Given the description of an element on the screen output the (x, y) to click on. 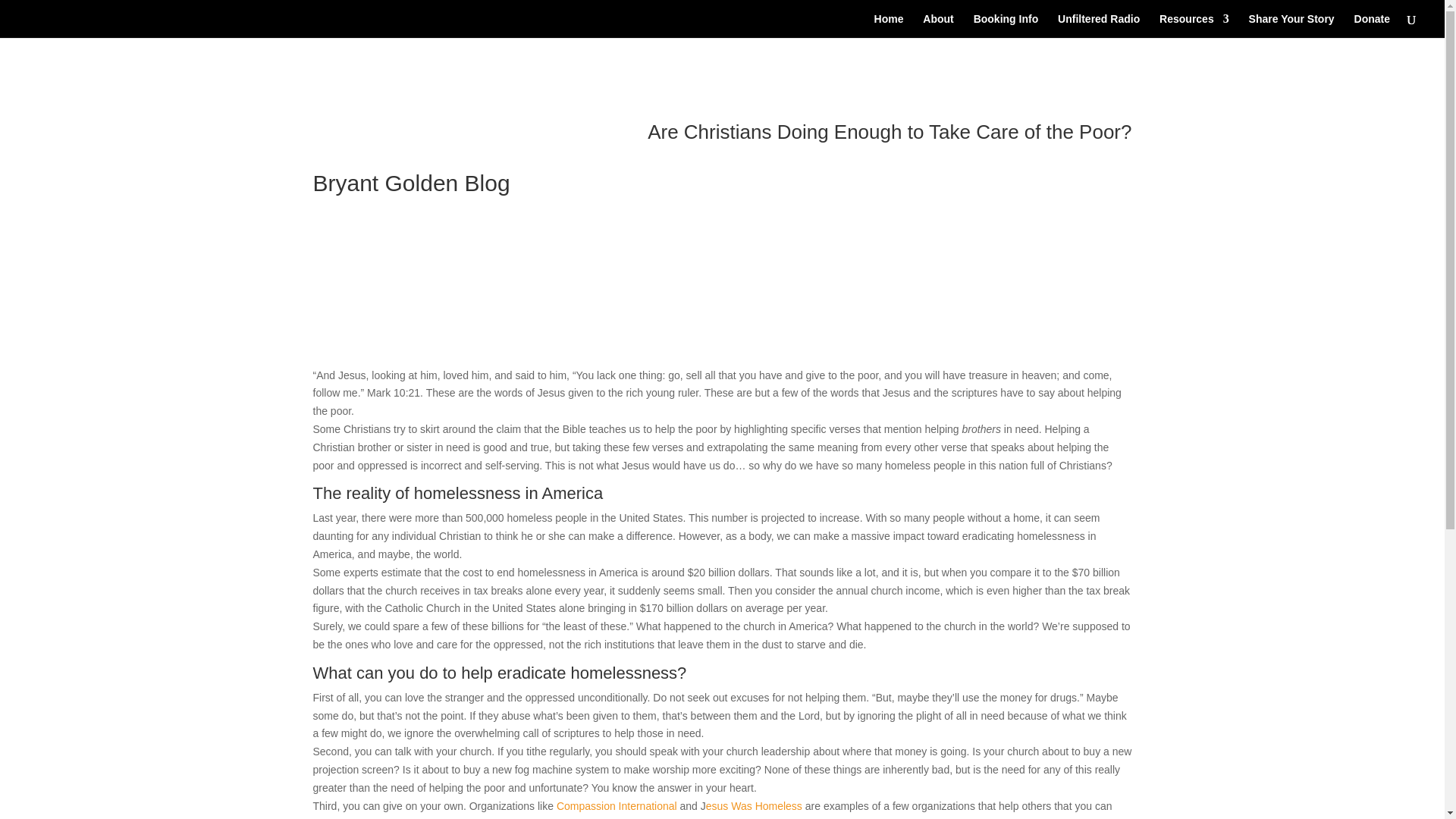
About (938, 25)
Resources (1193, 25)
esus Was Homeless (755, 806)
Booking Info (1006, 25)
Unfiltered Radio (1099, 25)
Home (889, 25)
Compassion International (616, 806)
Donate (1372, 25)
Share Your Story (1292, 25)
